Given the description of an element on the screen output the (x, y) to click on. 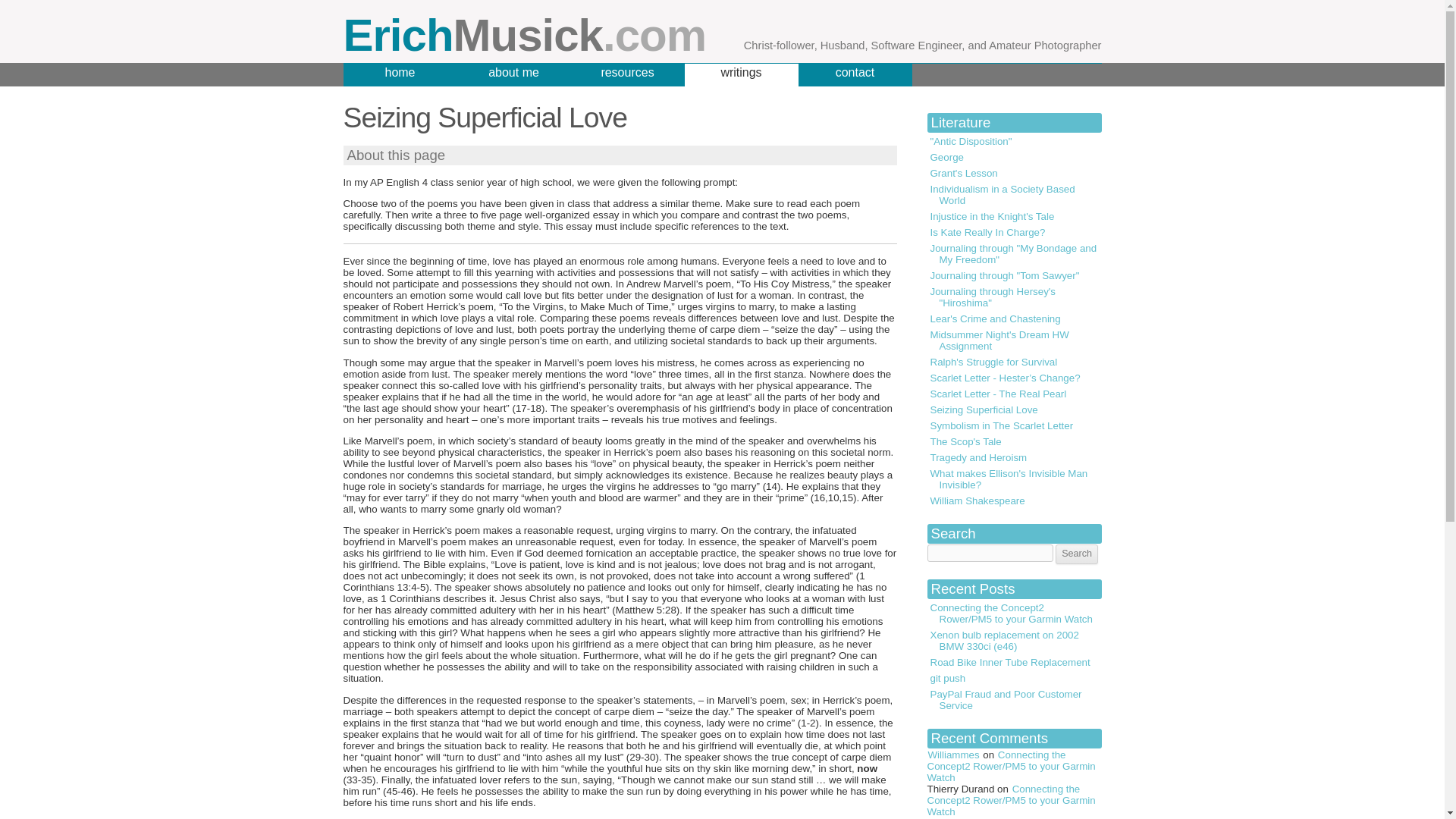
contact (854, 74)
Grant's Lesson (1013, 172)
William Shakespeare (1013, 500)
Seizing Superficial Love (1013, 409)
Journaling through "Tom Sawyer" (1013, 275)
Lear's Crime and Chastening (1013, 318)
Road Bike Inner Tube Replacement (1013, 662)
Ralph's Struggle for Survival (1013, 361)
The Scop's Tale (1013, 441)
George (1013, 157)
